Given the description of an element on the screen output the (x, y) to click on. 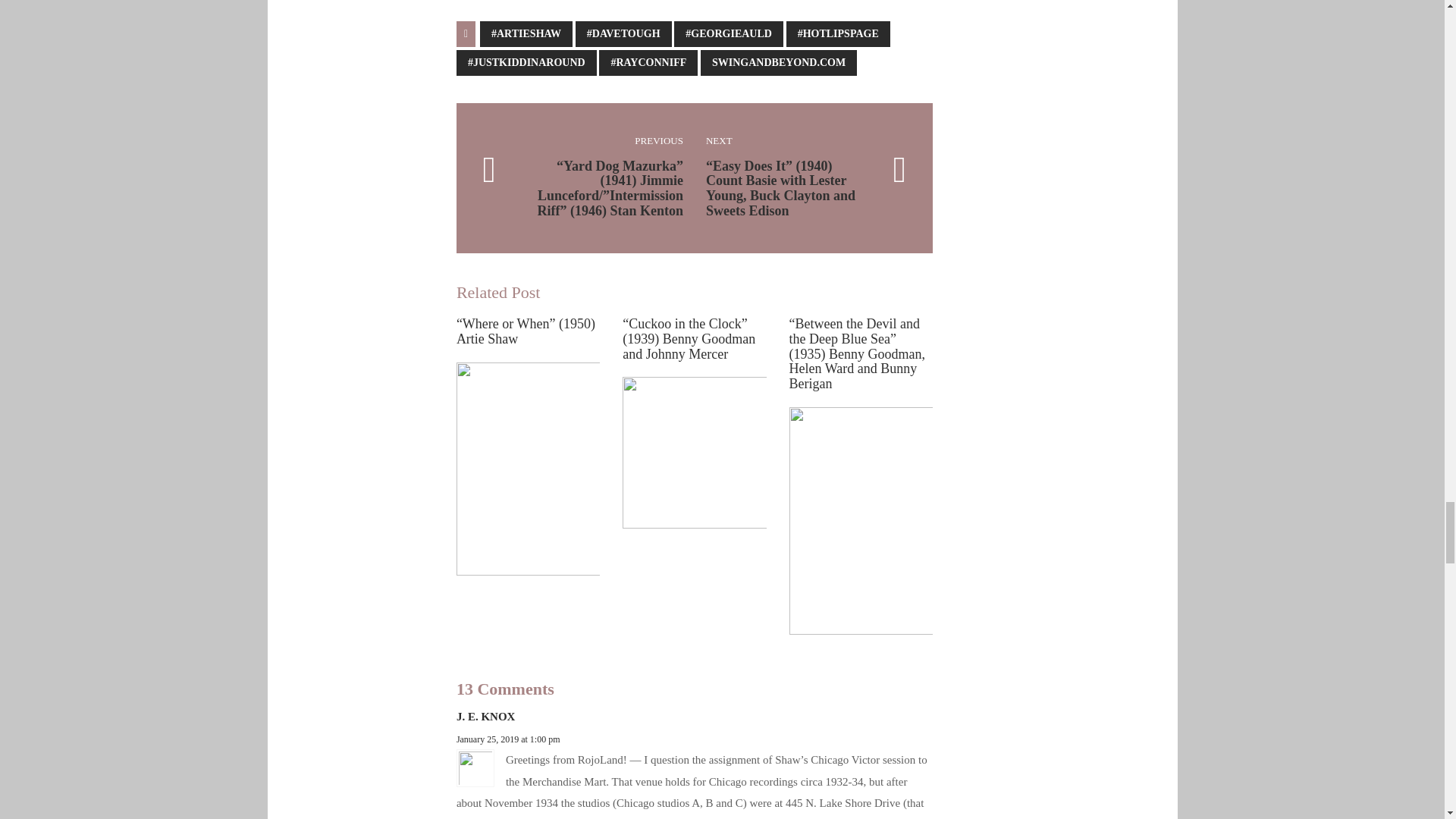
January 25, 2019 at 1:00 pm (508, 738)
SWINGANDBEYOND.COM (778, 62)
J. E. KNOX (486, 716)
